Given the description of an element on the screen output the (x, y) to click on. 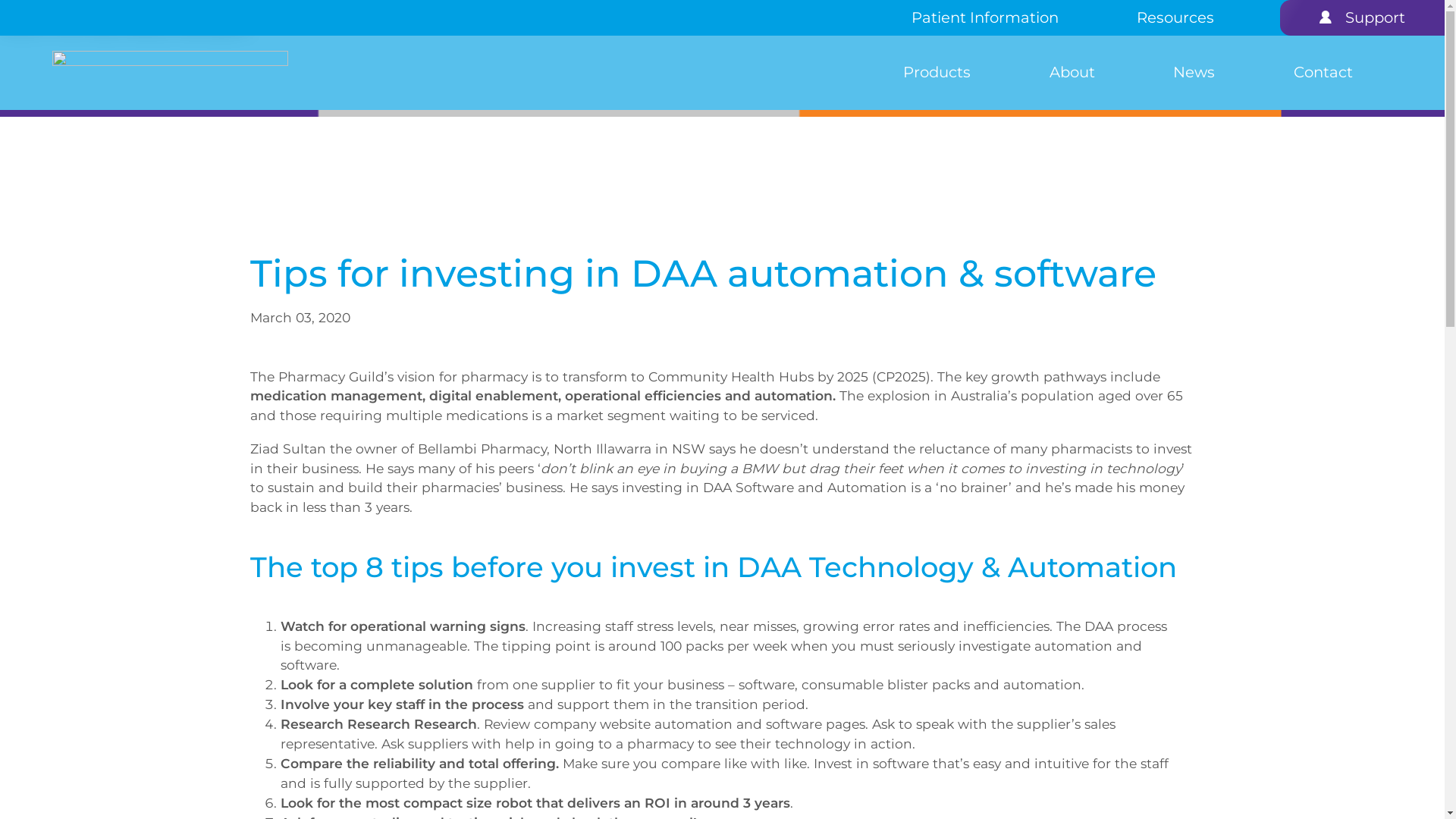
Patient Information Element type: text (65, 29)
Products Element type: text (29, 9)
Resources Element type: text (163, 29)
News Element type: text (1194, 72)
Contact Element type: text (162, 9)
Patient Information Element type: text (985, 17)
Resources Element type: text (1176, 17)
News Element type: text (118, 9)
Support Element type: text (224, 29)
Contact Element type: text (1323, 72)
About Element type: text (1072, 72)
Products Element type: text (936, 72)
Support Element type: text (1374, 17)
About Element type: text (79, 9)
